Given the description of an element on the screen output the (x, y) to click on. 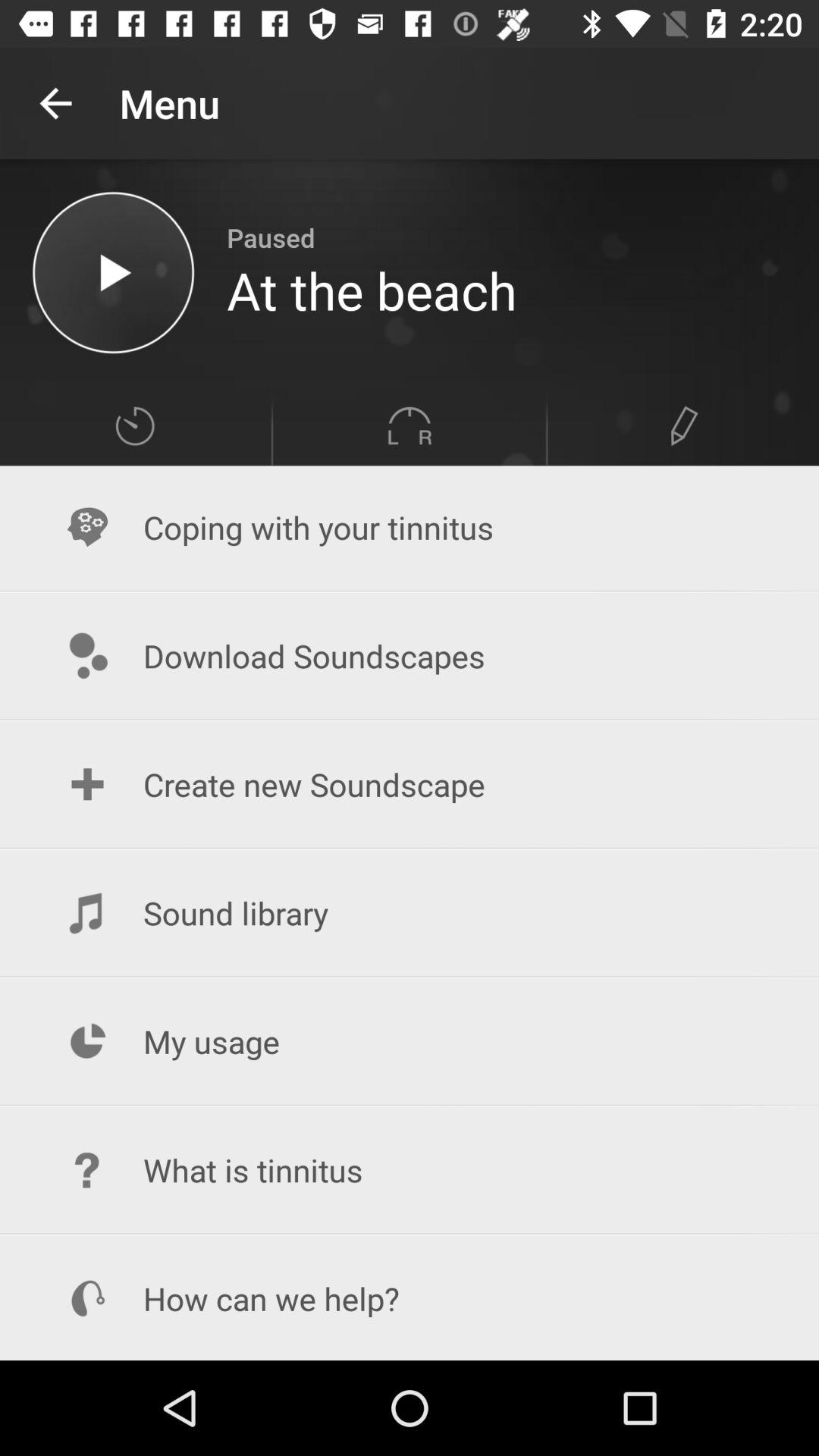
open menu (134, 425)
